Given the description of an element on the screen output the (x, y) to click on. 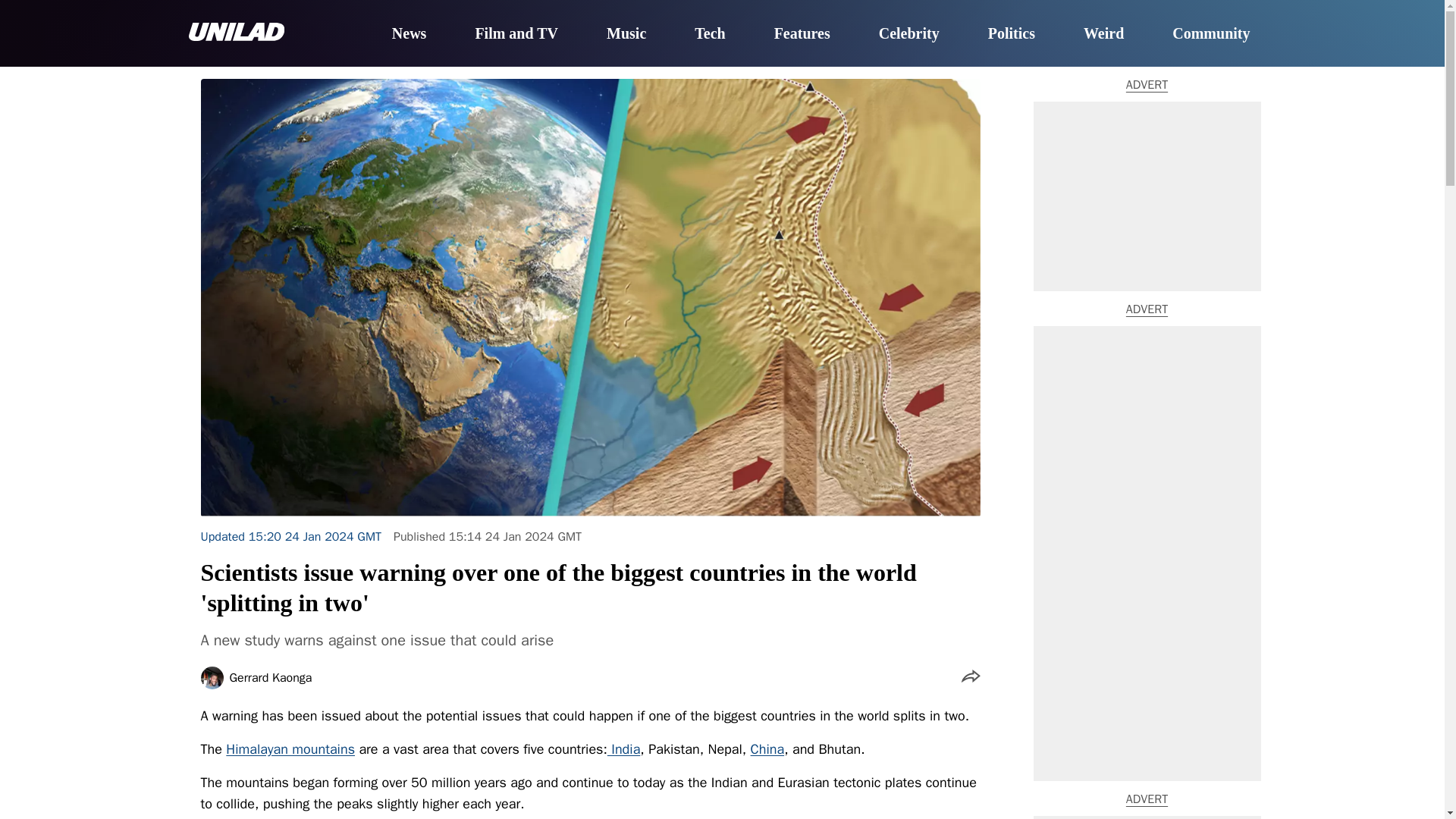
Community (1210, 34)
Politics (1011, 34)
Weird (1103, 34)
Tech (709, 34)
Gerrard Kaonga (269, 677)
Film and TV (515, 34)
Celebrity (909, 34)
Music (626, 34)
Features (801, 34)
China (767, 749)
